Given the description of an element on the screen output the (x, y) to click on. 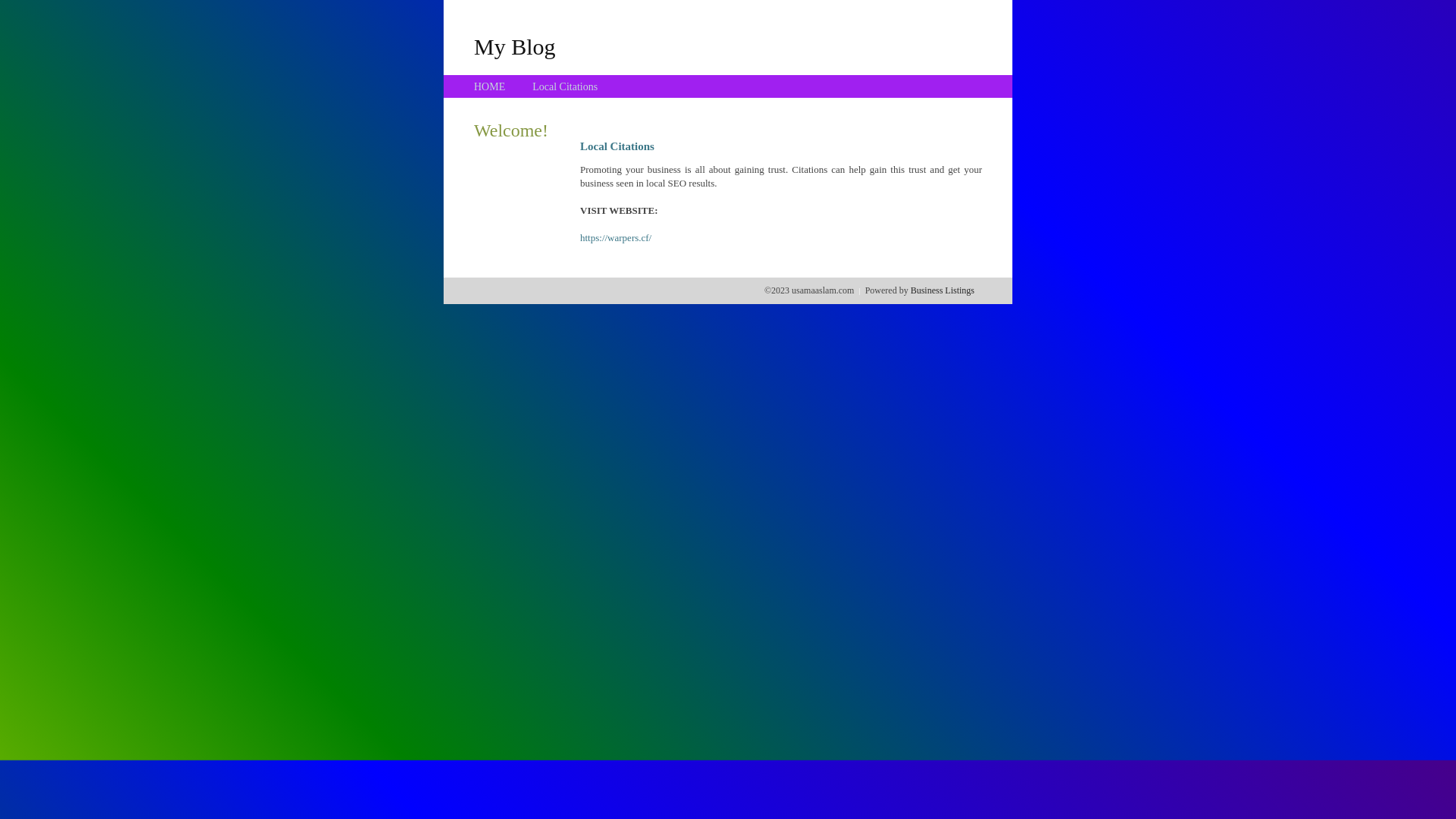
My Blog Element type: text (514, 46)
https://warpers.cf/ Element type: text (615, 237)
Local Citations Element type: text (564, 86)
HOME Element type: text (489, 86)
Business Listings Element type: text (942, 290)
